Given the description of an element on the screen output the (x, y) to click on. 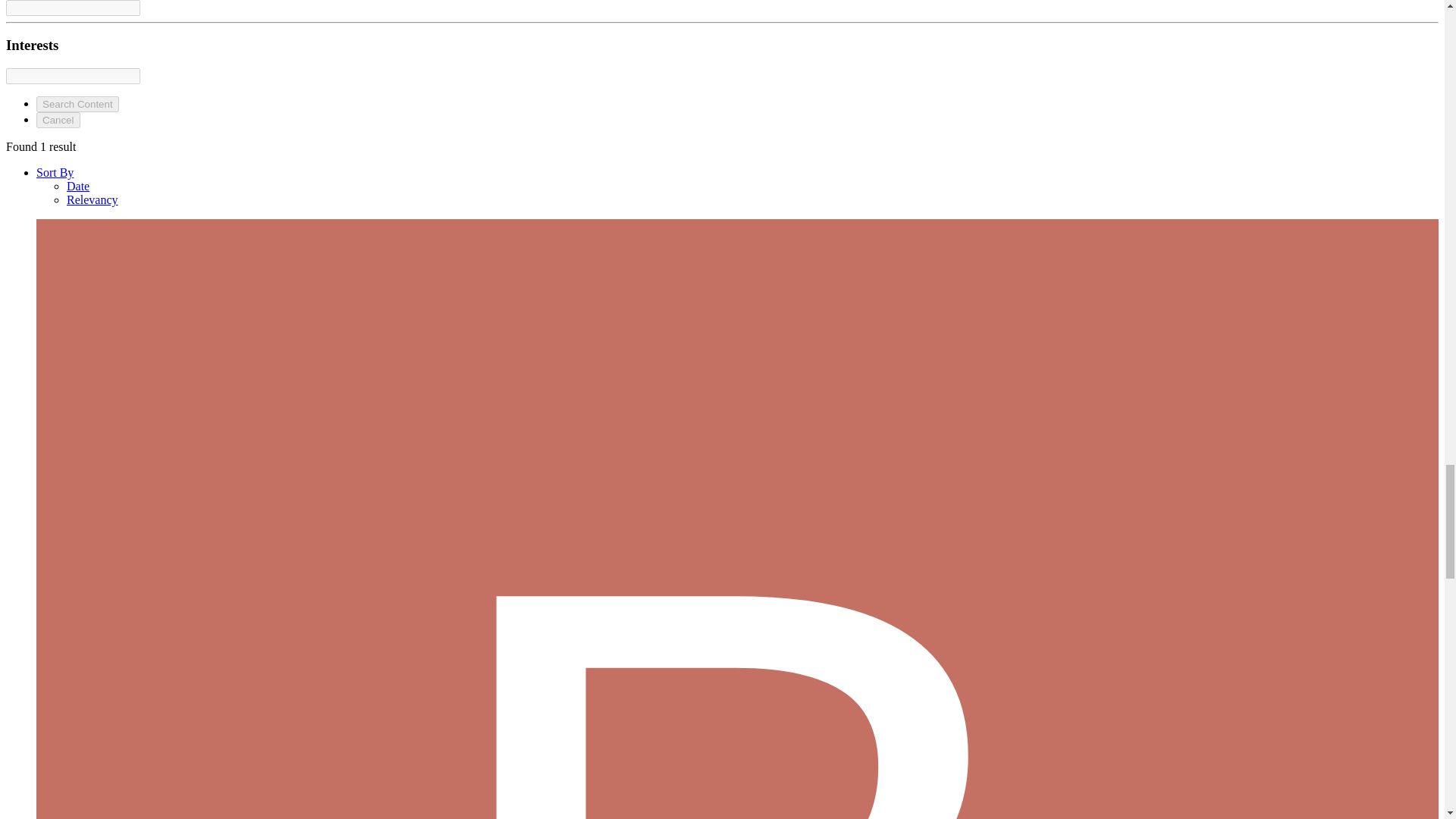
Search Content (77, 104)
